Given the description of an element on the screen output the (x, y) to click on. 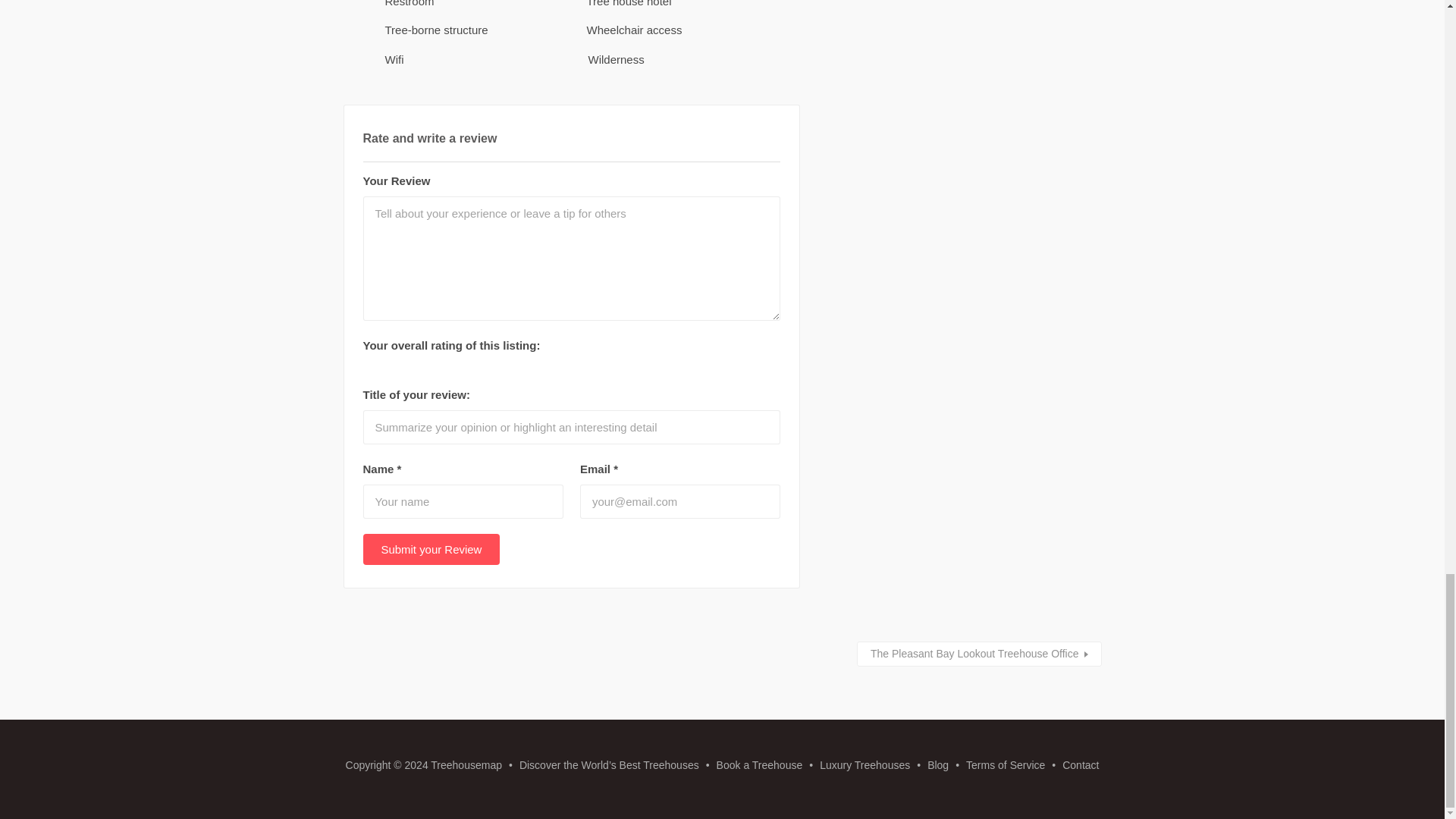
Submit your Review (430, 549)
